Given the description of an element on the screen output the (x, y) to click on. 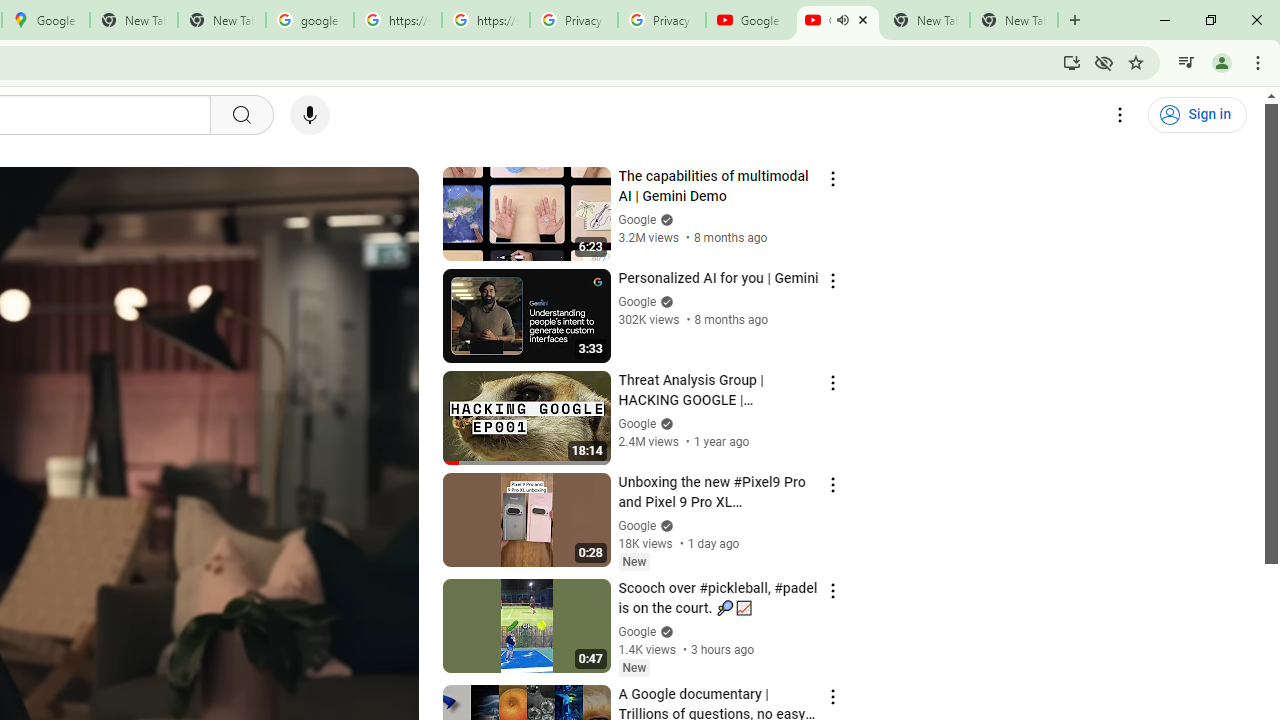
New Tab (1014, 20)
New (634, 667)
Install YouTube (1071, 62)
https://scholar.google.com/ (485, 20)
https://scholar.google.com/ (397, 20)
Google - YouTube (749, 20)
Action menu (832, 696)
